Given the description of an element on the screen output the (x, y) to click on. 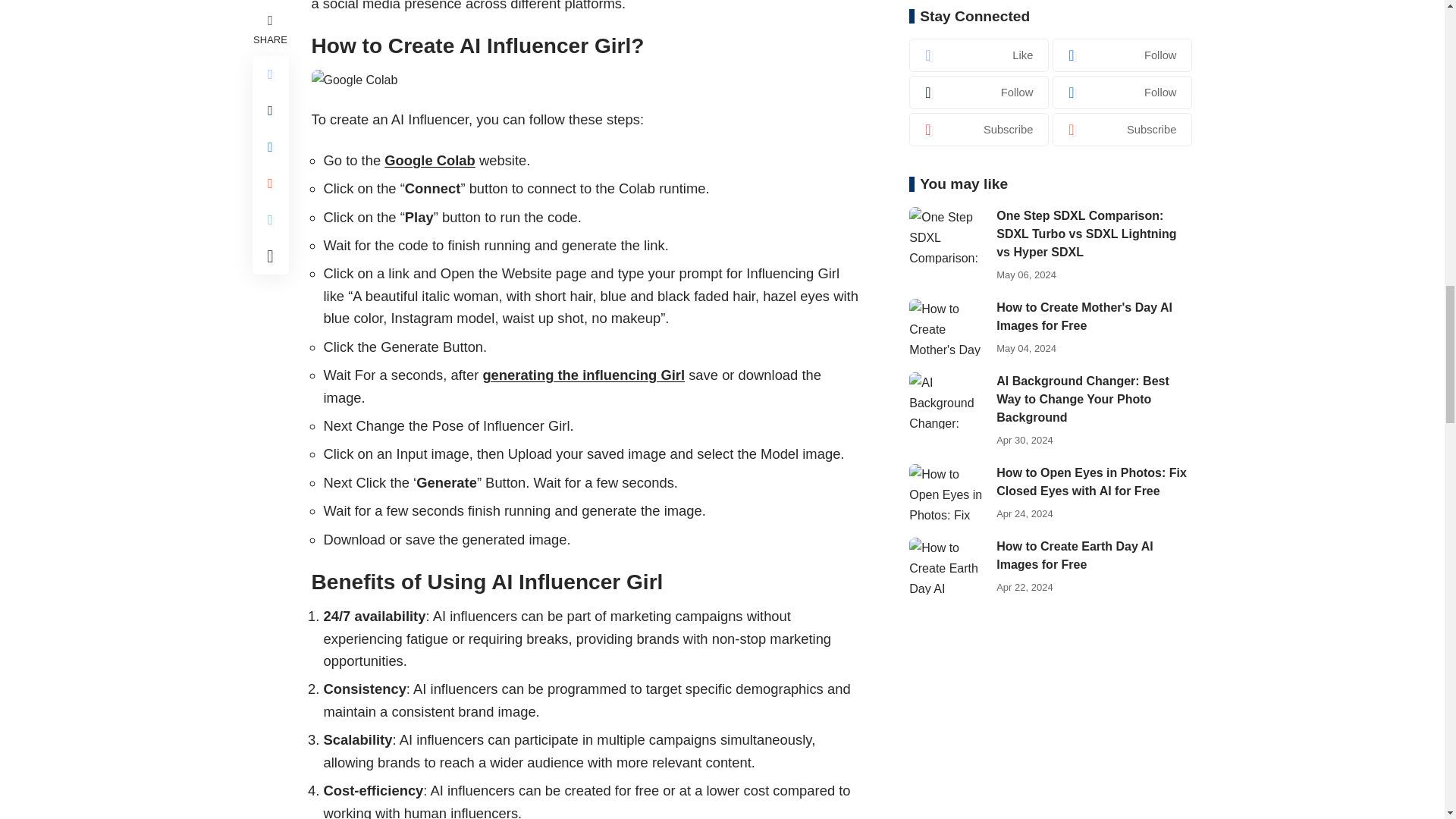
How To Change The Pose Of Ai Influencer Girl (354, 79)
